Given the description of an element on the screen output the (x, y) to click on. 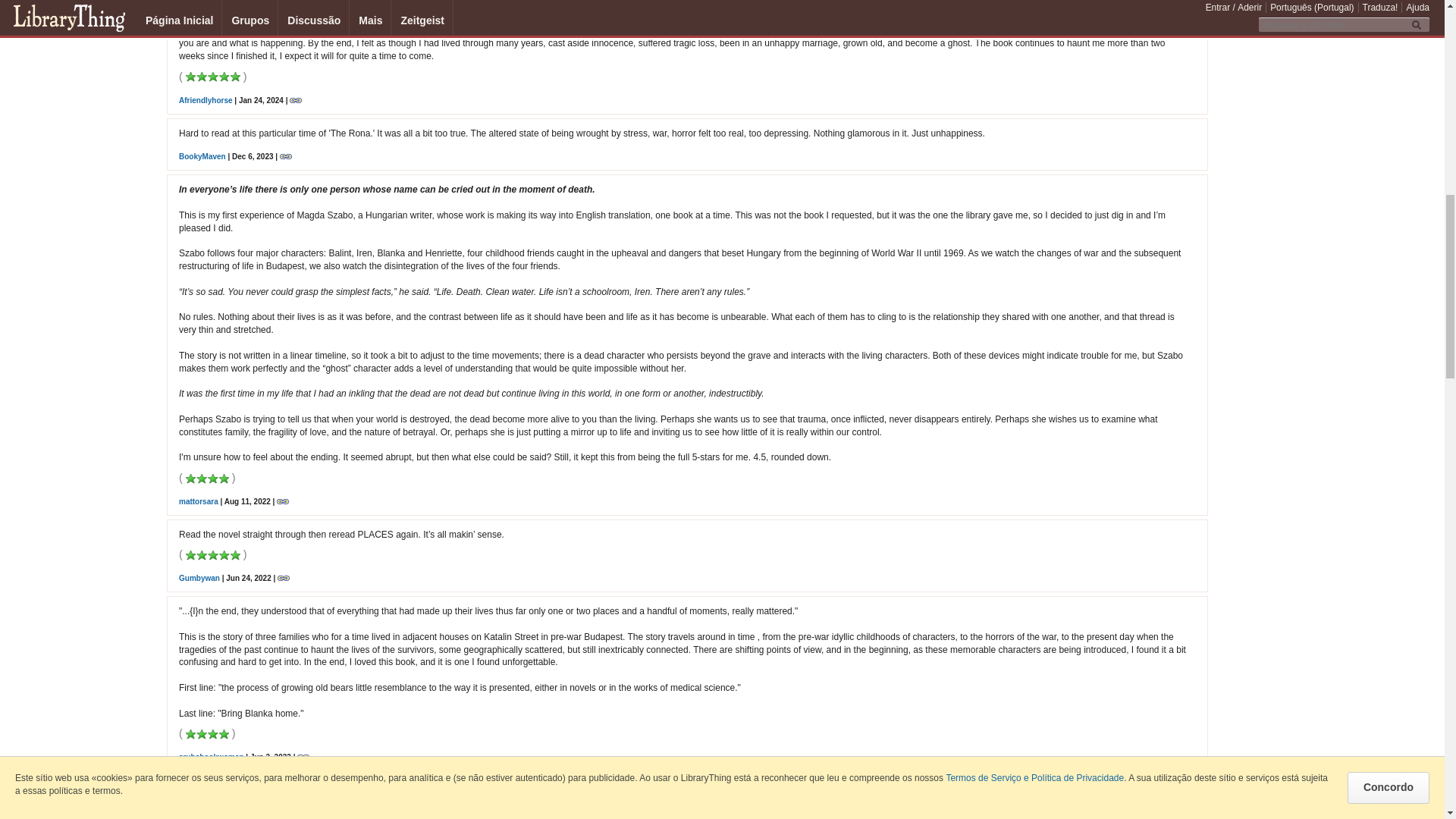
Help (1195, 816)
